Given the description of an element on the screen output the (x, y) to click on. 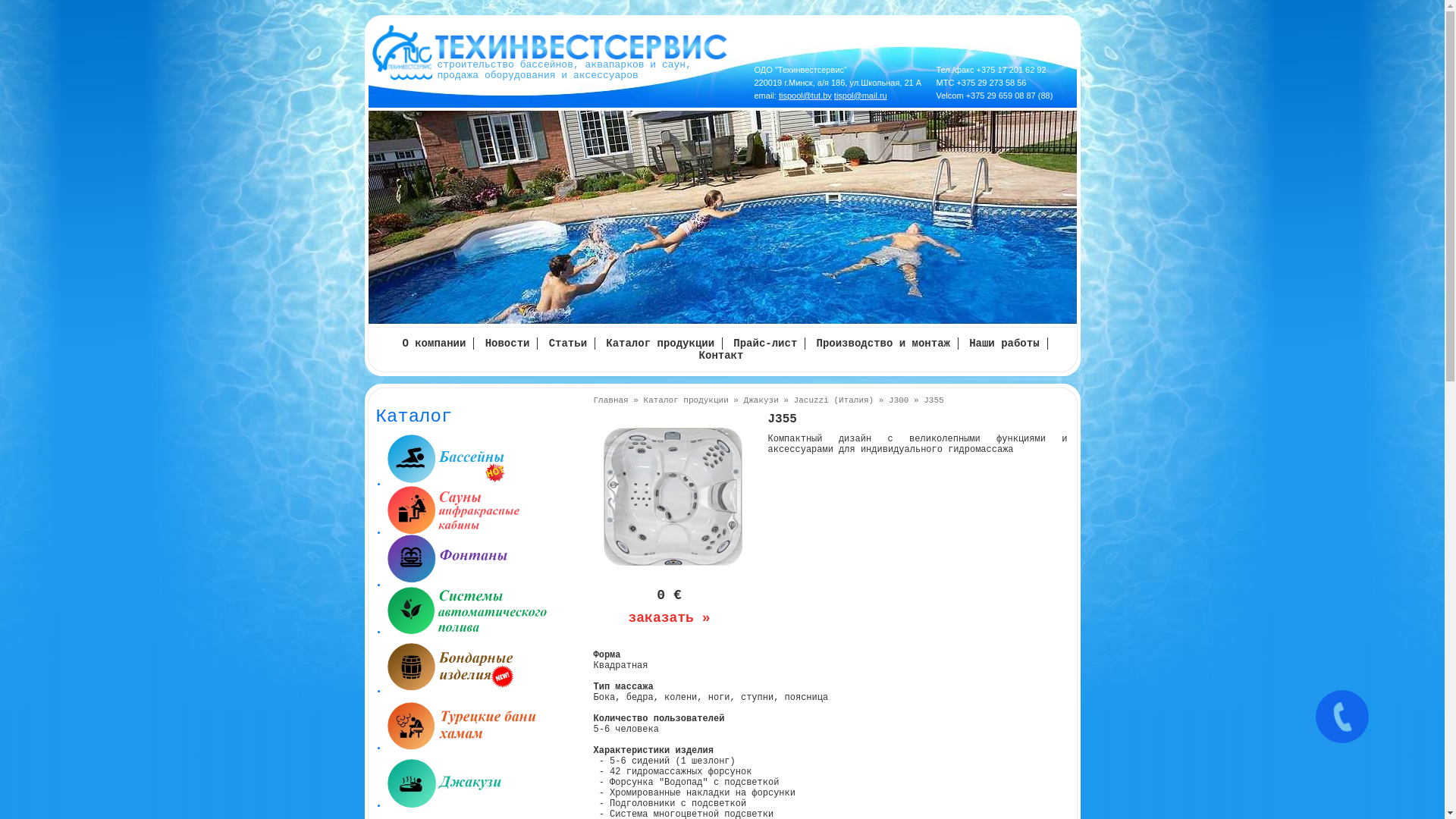
tispol@mail.ru Element type: text (860, 95)
  Element type: text (483, 672)
  Element type: text (483, 614)
tispool@tut.by Element type: text (804, 95)
  Element type: text (483, 730)
J300 Element type: text (898, 399)
  Element type: text (483, 787)
